Given the description of an element on the screen output the (x, y) to click on. 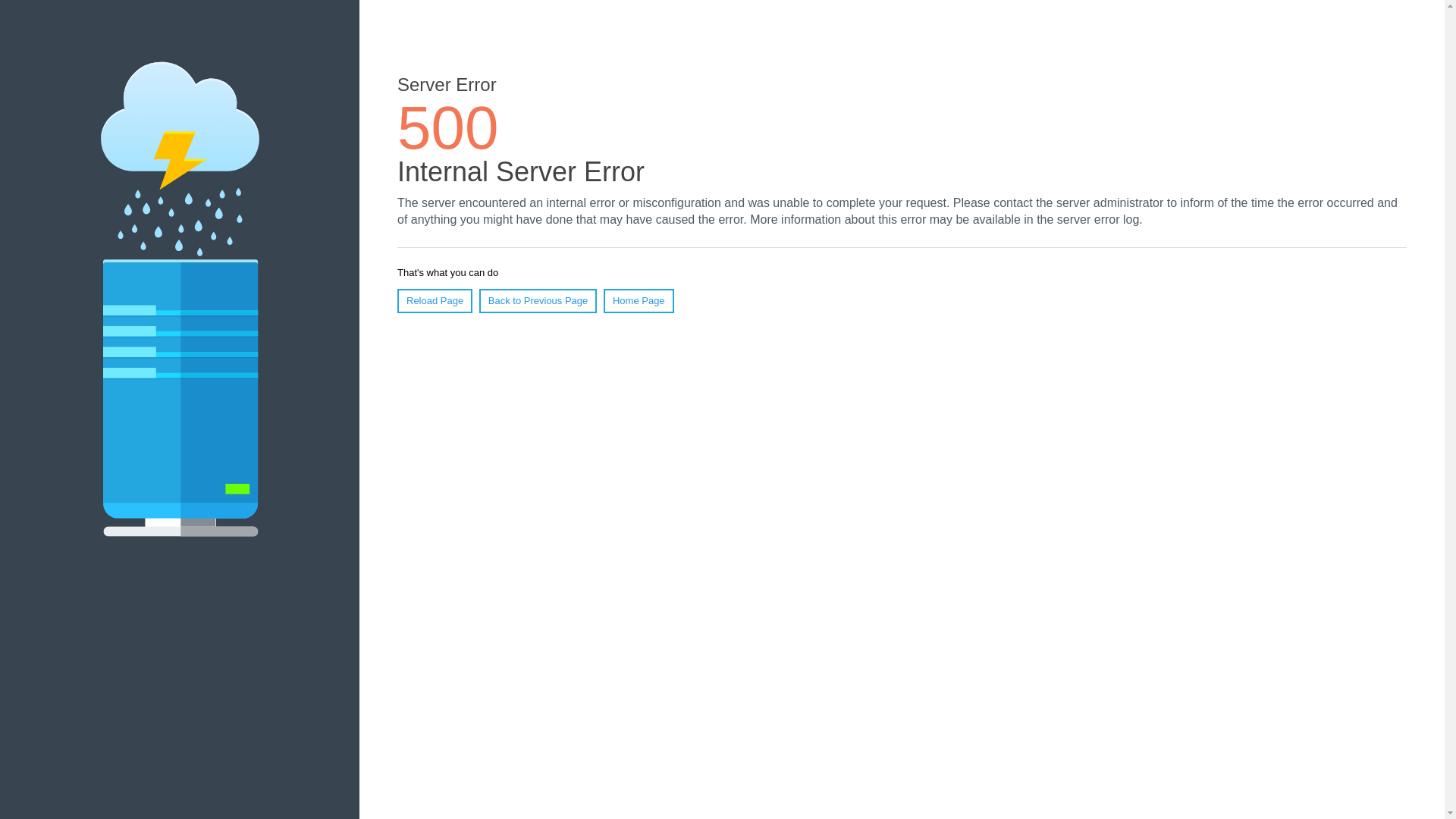
Reload Page Element type: text (434, 300)
Home Page Element type: text (638, 300)
Back to Previous Page Element type: text (538, 300)
